Given the description of an element on the screen output the (x, y) to click on. 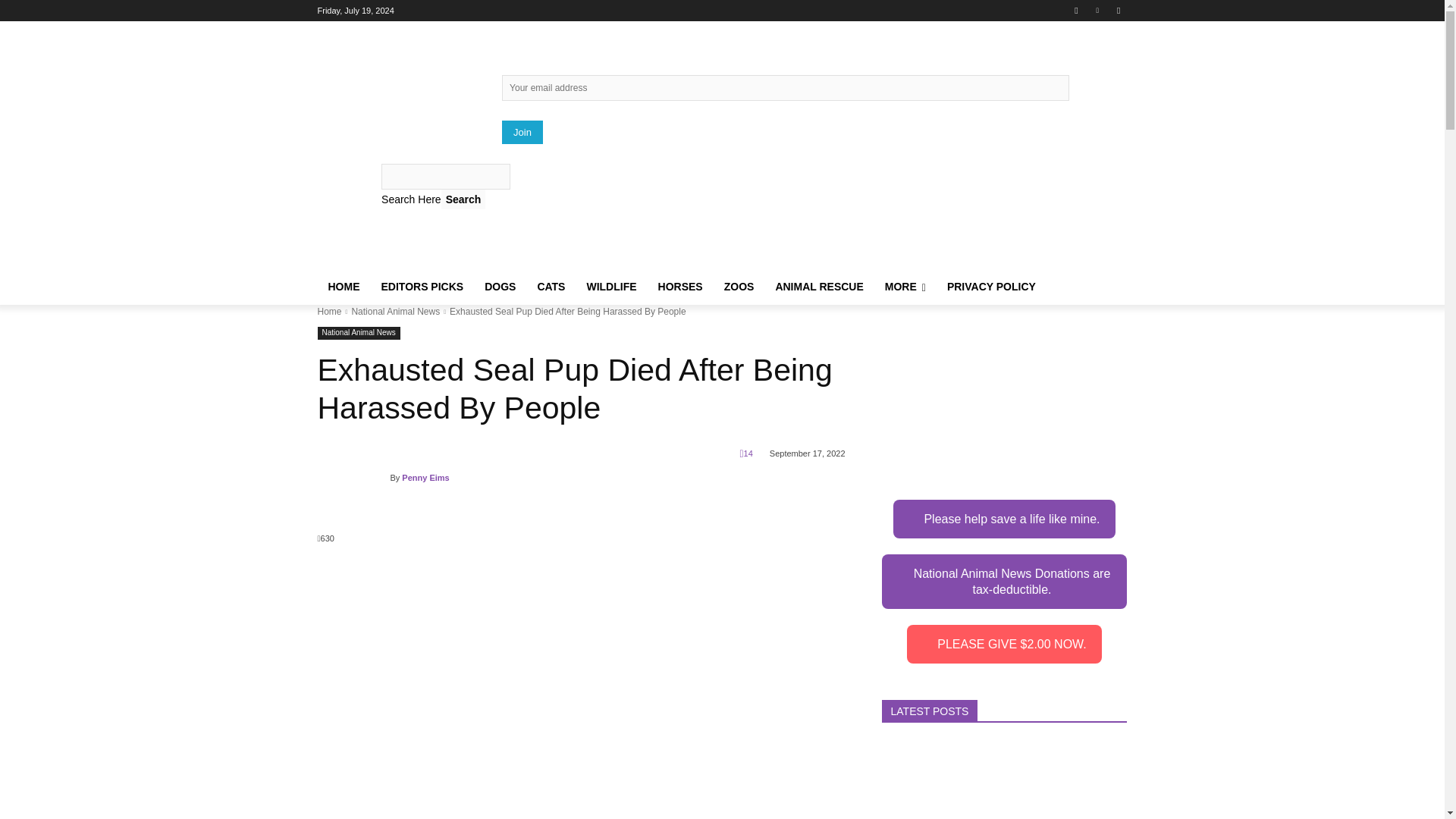
ANIMAL RESCUE (818, 286)
Join (522, 132)
PRIVACY POLICY (991, 286)
CATS (550, 286)
Join (522, 132)
Penny Eims (353, 477)
Youtube (1117, 9)
DOGS (499, 286)
MORE (905, 286)
ZOOS (739, 286)
HORSES (680, 286)
Search (463, 199)
Twitter (1097, 9)
HOME (343, 286)
Facebook (1075, 9)
